Given the description of an element on the screen output the (x, y) to click on. 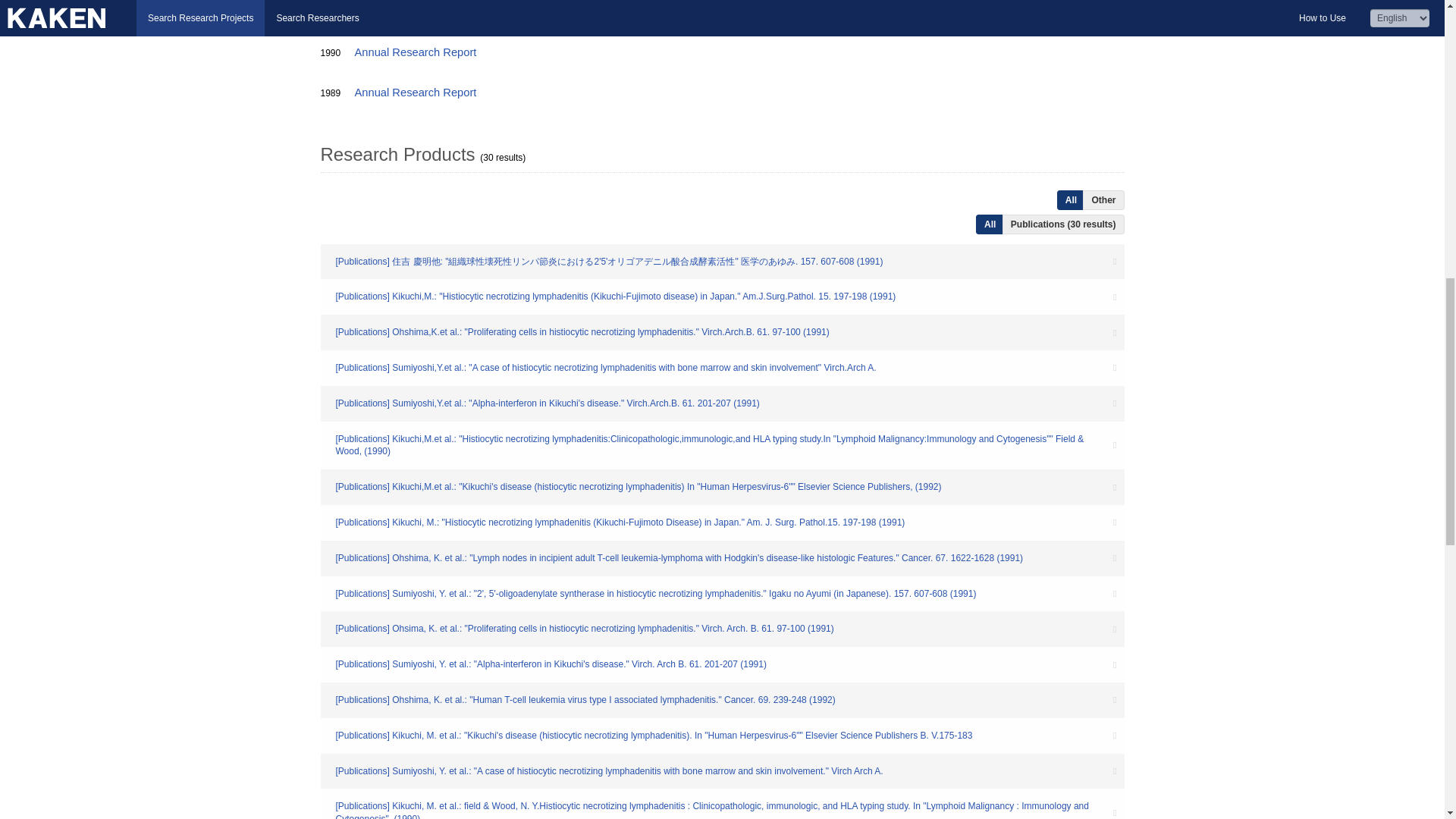
Annual Research Report (417, 52)
Final Research Report Summary (593, 12)
Other (1103, 199)
All (989, 224)
All (1070, 199)
Annual Research Report (417, 92)
Annual Research Report (417, 12)
